Given the description of an element on the screen output the (x, y) to click on. 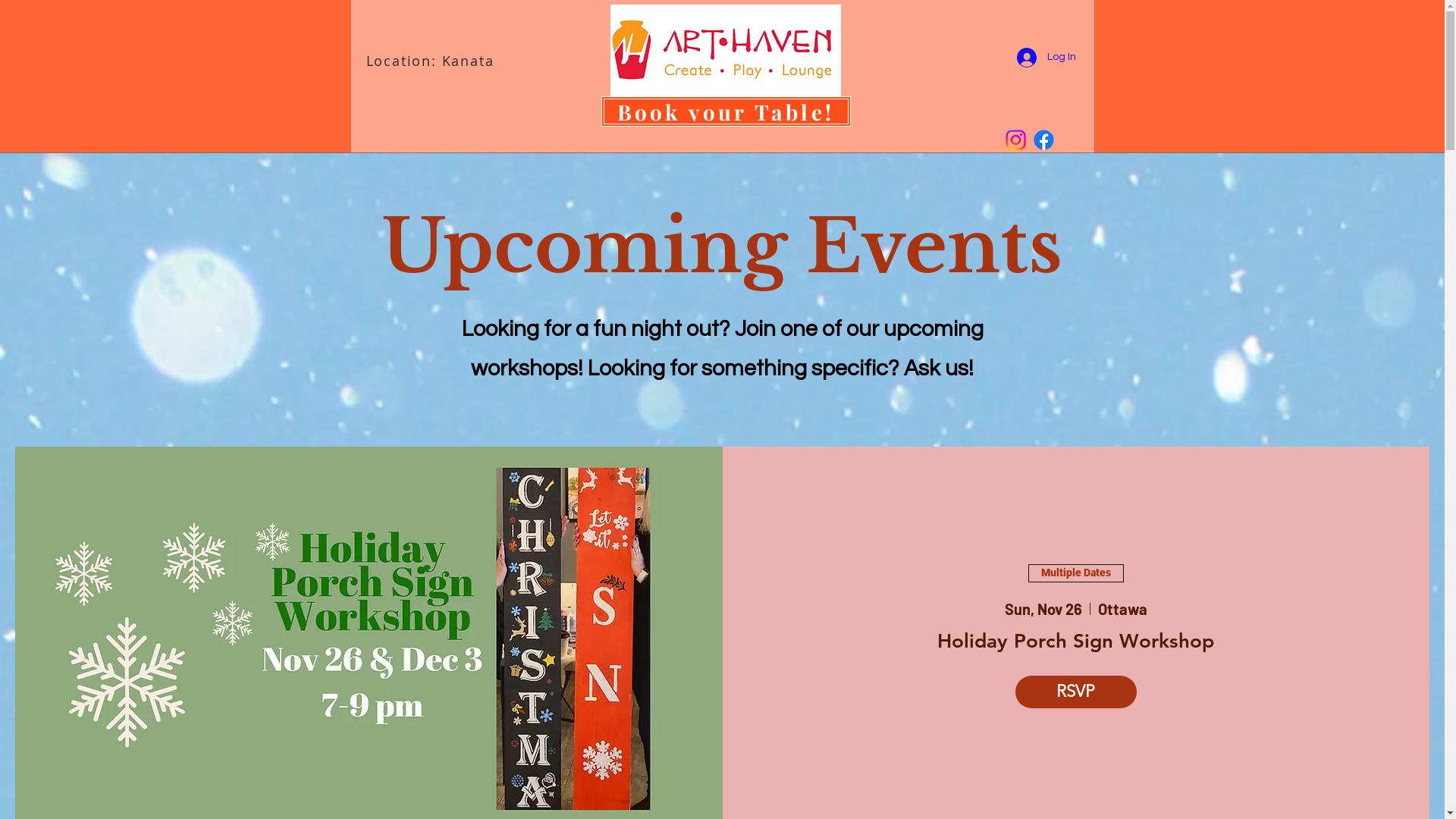
RSVP Element type: text (1075, 691)
Book your Table! Element type: text (725, 111)
Log In Element type: text (1045, 57)
logo_80px.png Element type: hover (724, 50)
Holiday Porch Sign Workshop Element type: text (1075, 640)
